Given the description of an element on the screen output the (x, y) to click on. 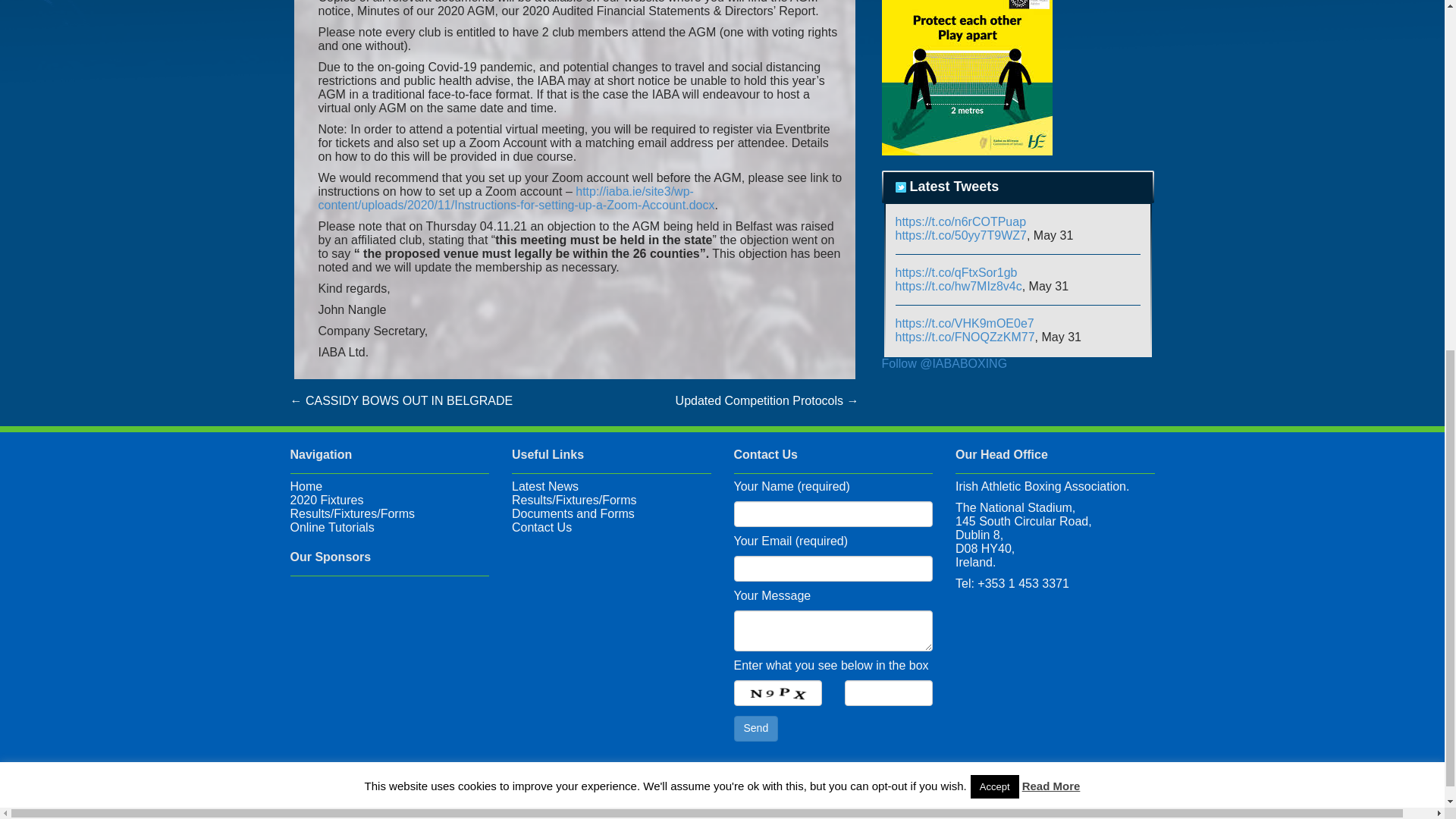
Send (755, 728)
